Given the description of an element on the screen output the (x, y) to click on. 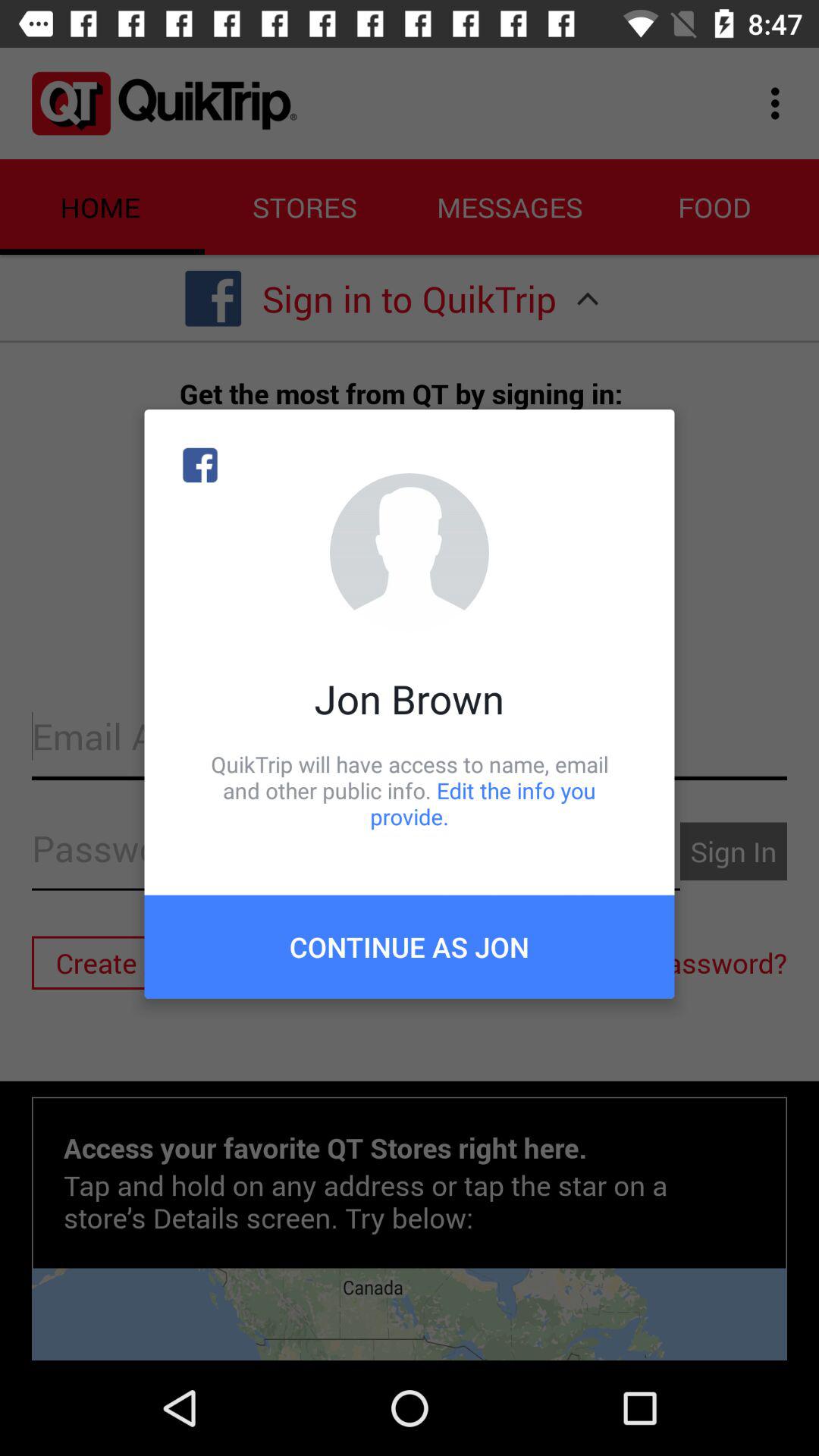
turn off the item above continue as jon item (409, 790)
